Given the description of an element on the screen output the (x, y) to click on. 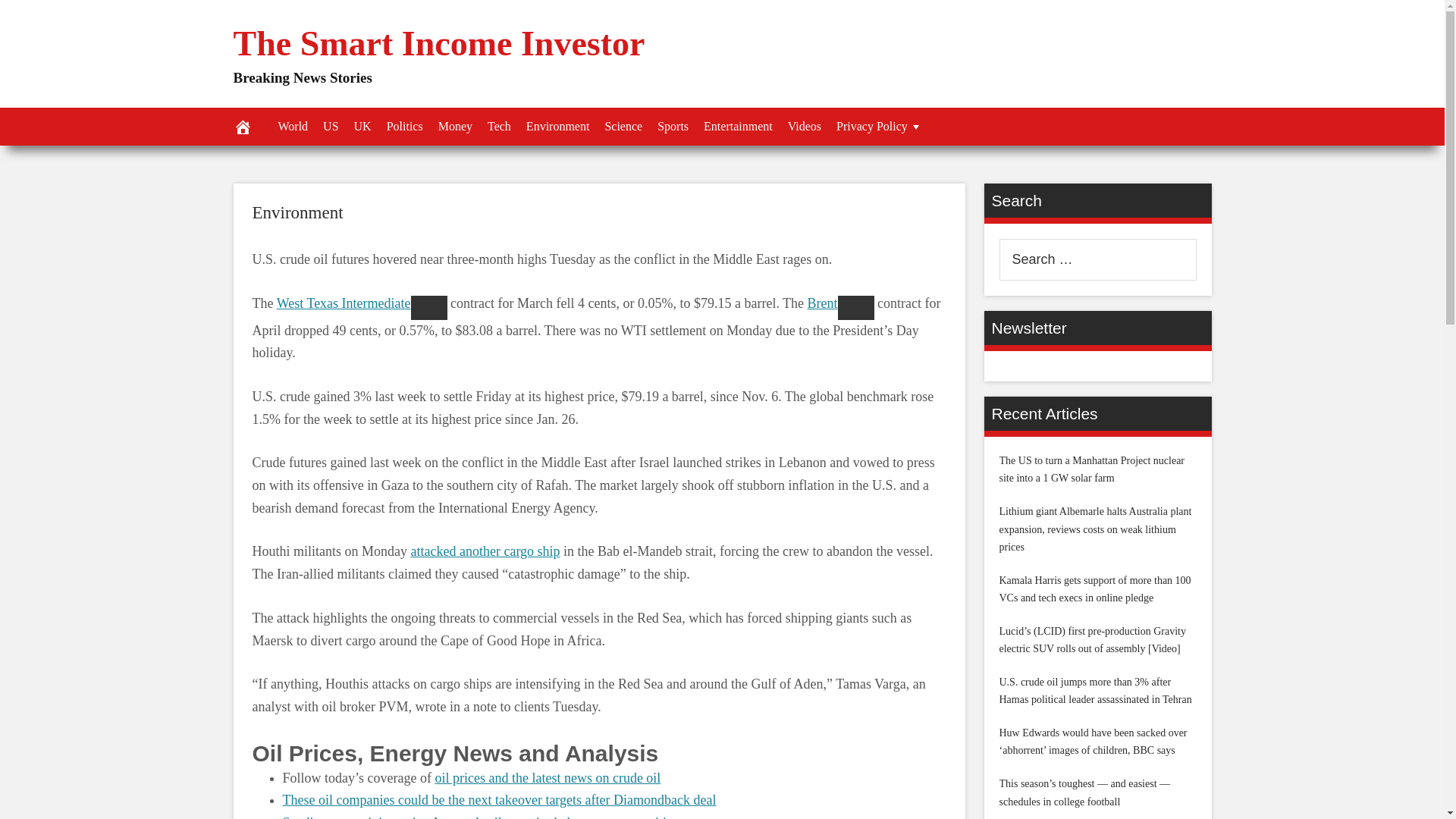
Politics (404, 126)
Privacy Policy (879, 126)
The Smart Income Investor (438, 43)
Environment (296, 212)
Sports (672, 126)
Money (455, 126)
Entertainment (737, 126)
Science (622, 126)
Environment (296, 212)
Tech (499, 126)
Videos (804, 126)
World (292, 126)
Environment (557, 126)
